Given the description of an element on the screen output the (x, y) to click on. 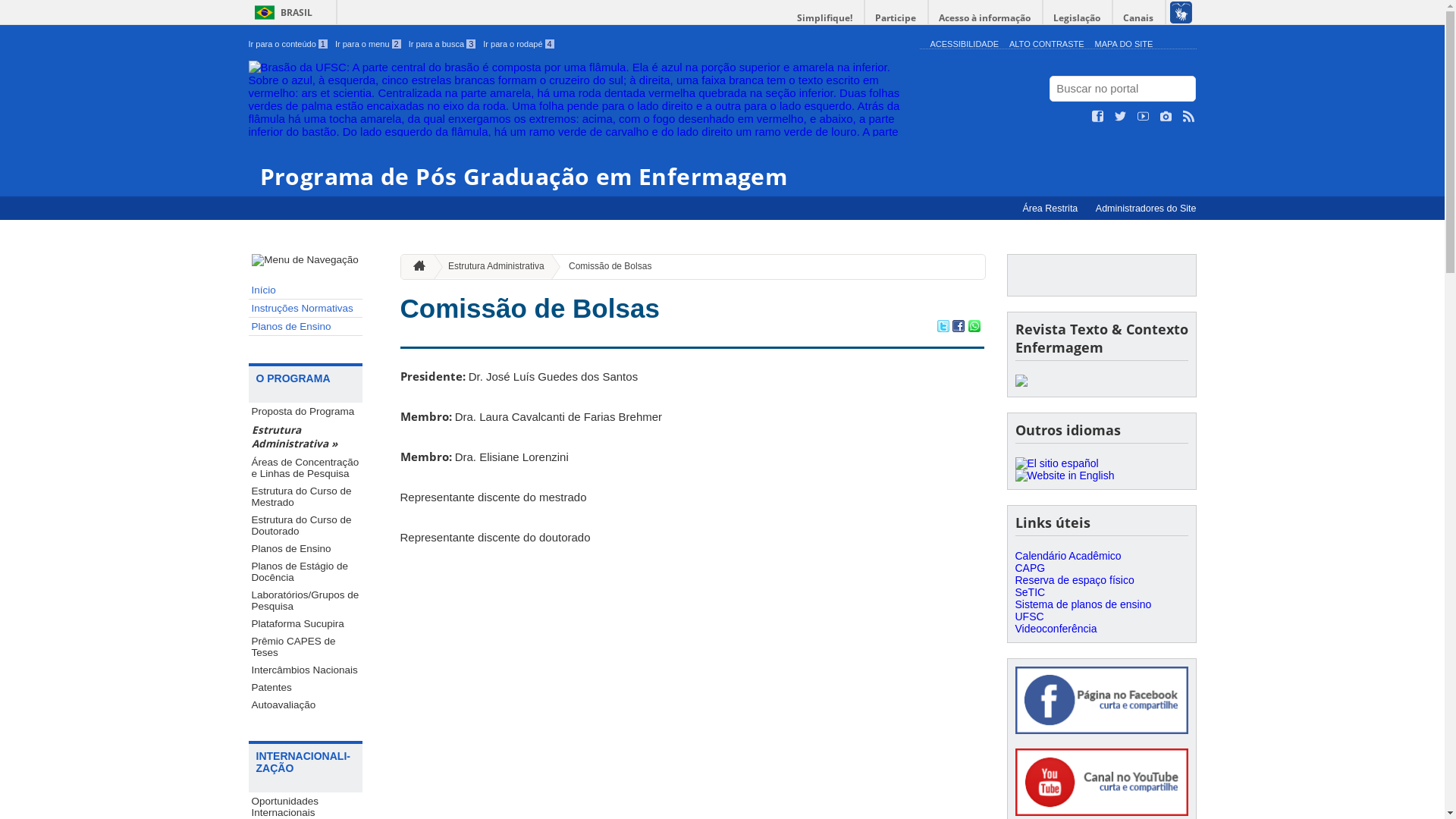
Plataforma Sucupira Element type: text (305, 623)
Estrutura do Curso de Doutorado Element type: text (305, 525)
Curta no Facebook Element type: hover (1098, 116)
ALTO CONTRASTE Element type: text (1046, 43)
Compartilhar no Twitter Element type: hover (943, 327)
Facebook Element type: hover (1100, 700)
Administradores do Site Element type: text (1146, 208)
Ir para a busca 3 Element type: text (442, 43)
Patentes Element type: text (305, 687)
ACESSIBILIDADE Element type: text (963, 43)
BRASIL Element type: text (280, 12)
Compartilhar no WhatsApp Element type: hover (973, 327)
Youtube Element type: hover (1100, 781)
MAPA DO SITE Element type: text (1124, 43)
Estrutura do Curso de Mestrado Element type: text (305, 496)
Compartilhar no Facebook Element type: hover (958, 327)
Siga no Twitter Element type: hover (1120, 116)
UFSC Element type: text (1028, 616)
SeTIC Element type: text (1029, 592)
Canais Element type: text (1138, 18)
Estrutura Administrativa Element type: text (489, 266)
Proposta do Programa Element type: text (305, 411)
Veja no Instagram Element type: hover (1166, 116)
Ir para o menu 2 Element type: text (368, 43)
Planos de Ensino Element type: text (305, 548)
Simplifique! Element type: text (825, 18)
CAPG Element type: text (1029, 567)
Sistema de planos de ensino Element type: text (1082, 604)
Participe Element type: text (895, 18)
Planos de Ensino Element type: text (305, 326)
